Given the description of an element on the screen output the (x, y) to click on. 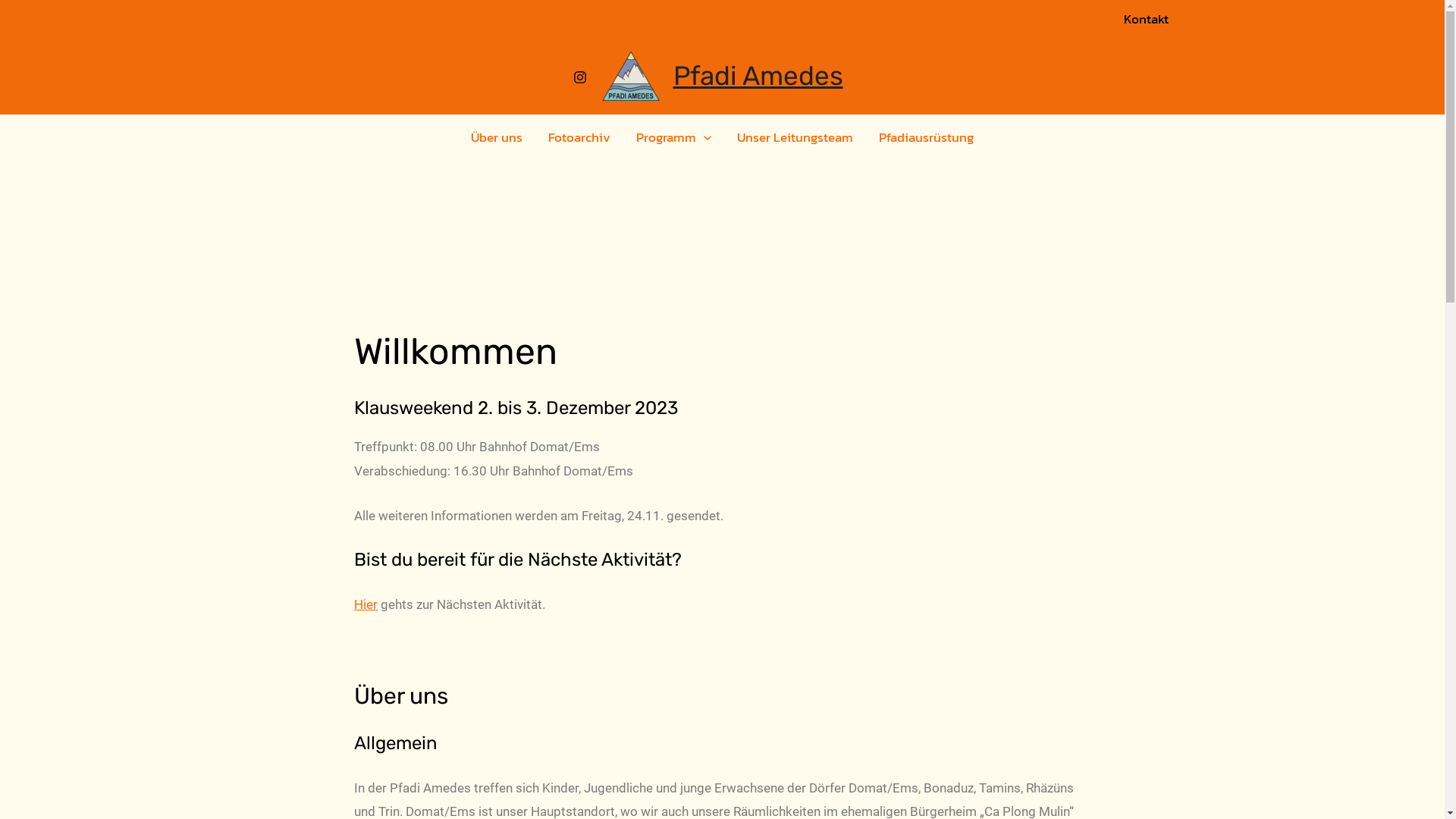
Fotoarchiv Element type: text (579, 137)
Programm Element type: text (673, 137)
Kontakt Element type: text (1145, 18)
Pfadi Amedes Element type: text (758, 75)
Hier Element type: text (365, 603)
Unser Leitungsteam Element type: text (795, 137)
